Given the description of an element on the screen output the (x, y) to click on. 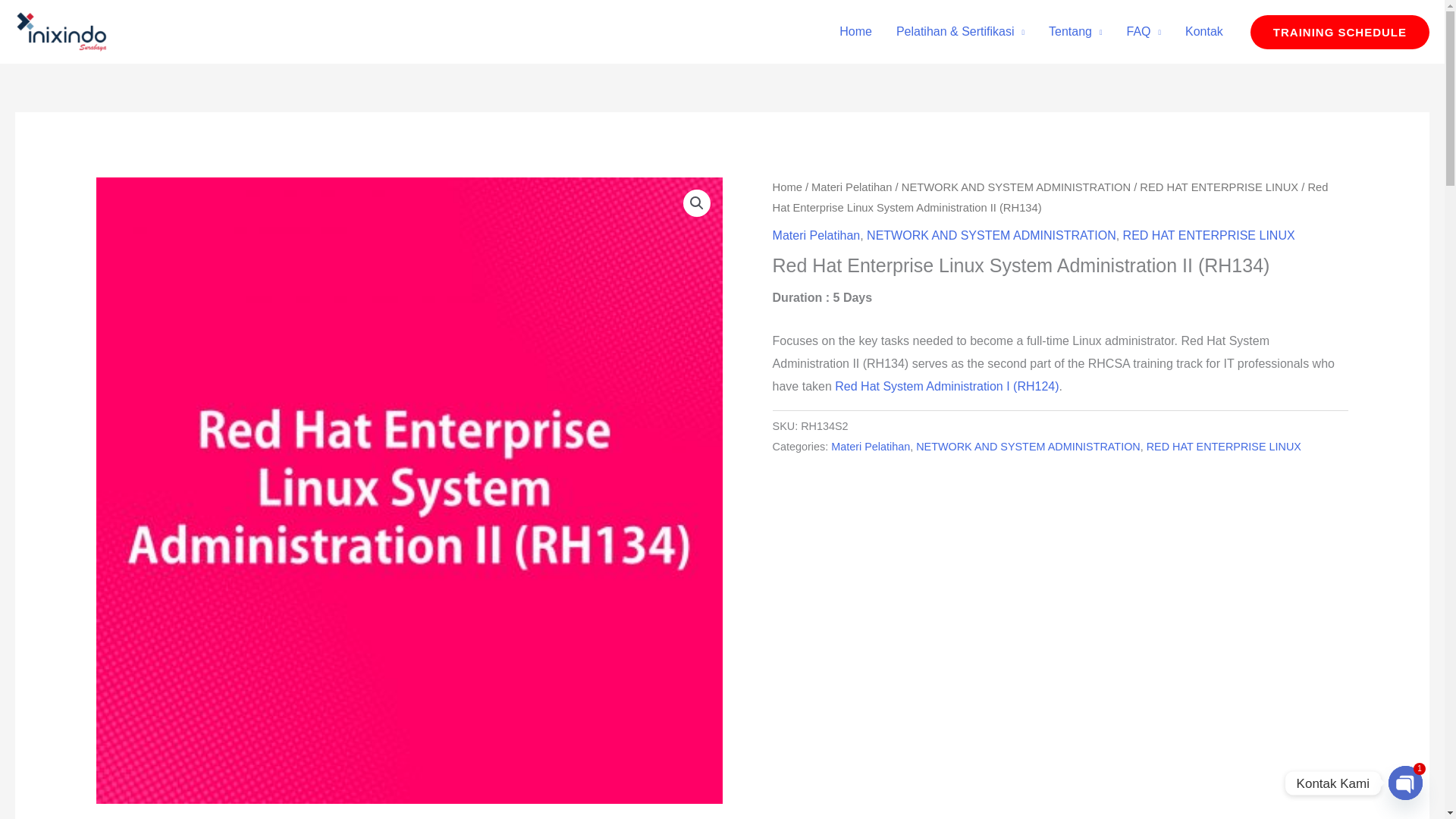
FAQ (1143, 31)
Kontak (1203, 31)
Home (855, 31)
Tentang (1074, 31)
TRAINING SCHEDULE (1339, 32)
